Given the description of an element on the screen output the (x, y) to click on. 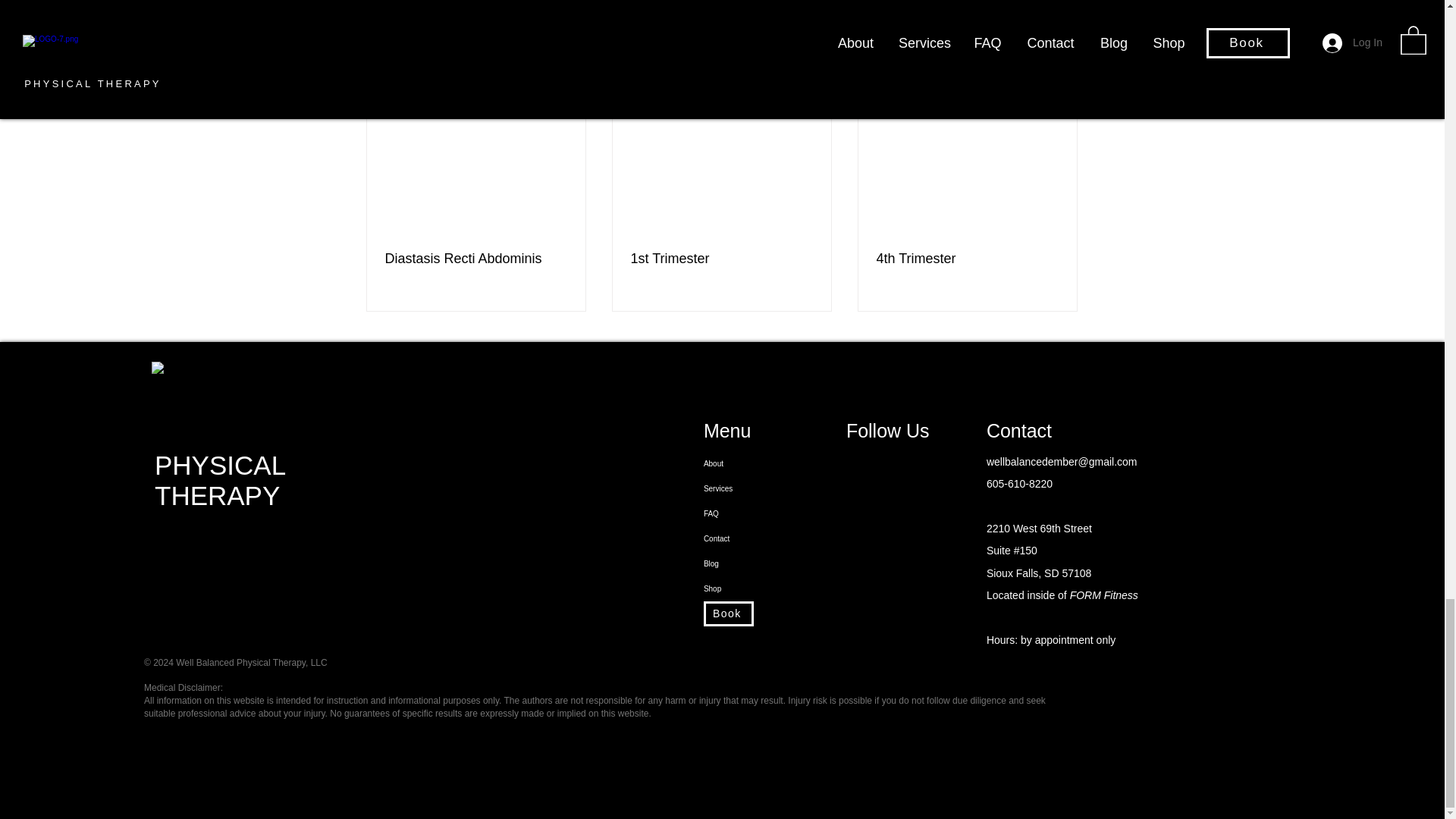
Contact (766, 538)
1st Trimester (721, 258)
Shop (766, 588)
Book (766, 613)
4th Trimester (967, 258)
Blog (766, 563)
About (766, 463)
FAQ (766, 513)
Services (766, 488)
See All (1061, 83)
Diastasis Recti Abdominis (476, 258)
